Given the description of an element on the screen output the (x, y) to click on. 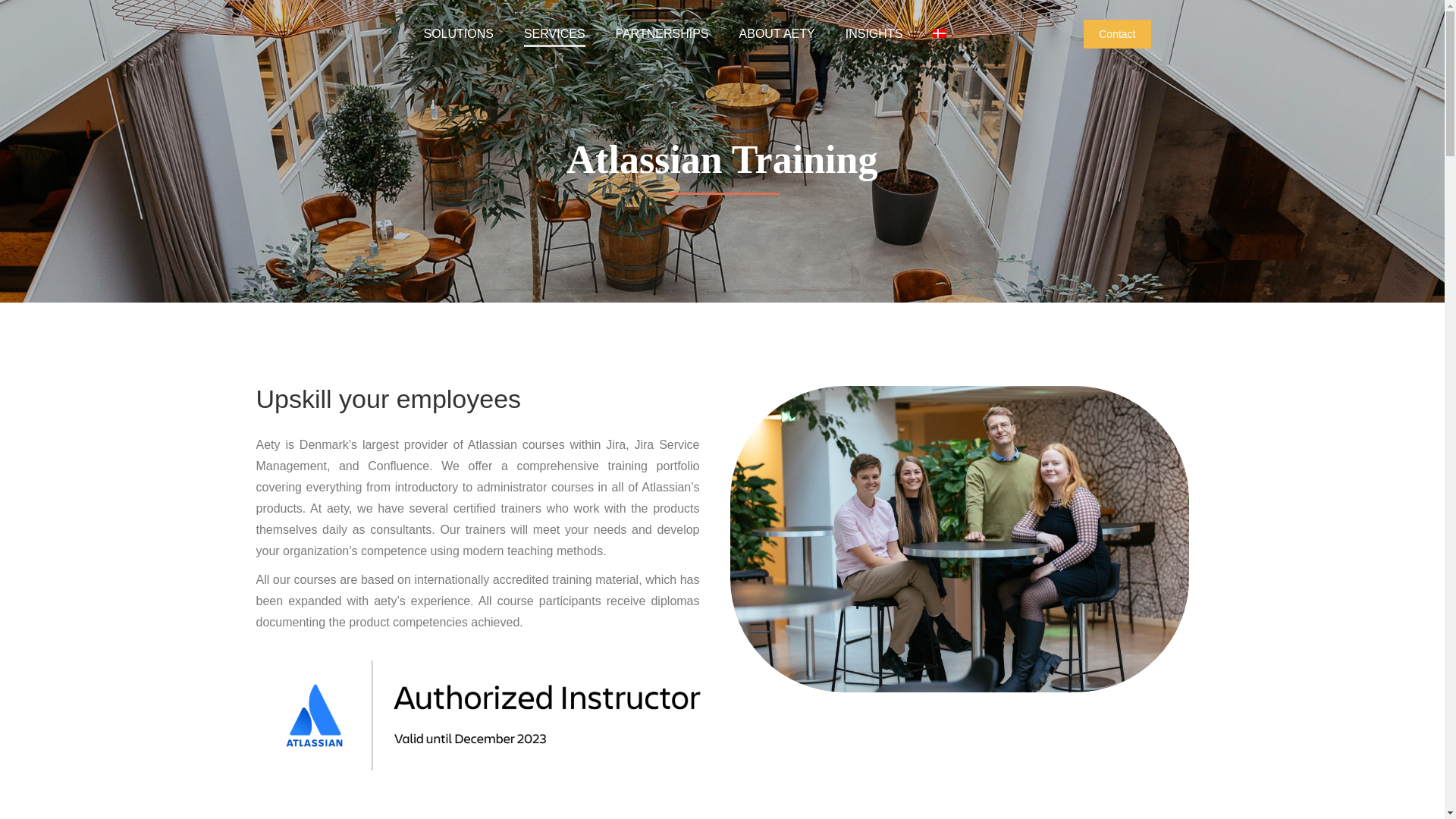
SOLUTIONS (458, 34)
PARTNERSHIPS (662, 34)
SERVICES (554, 34)
ABOUT AETY (777, 34)
